Given the description of an element on the screen output the (x, y) to click on. 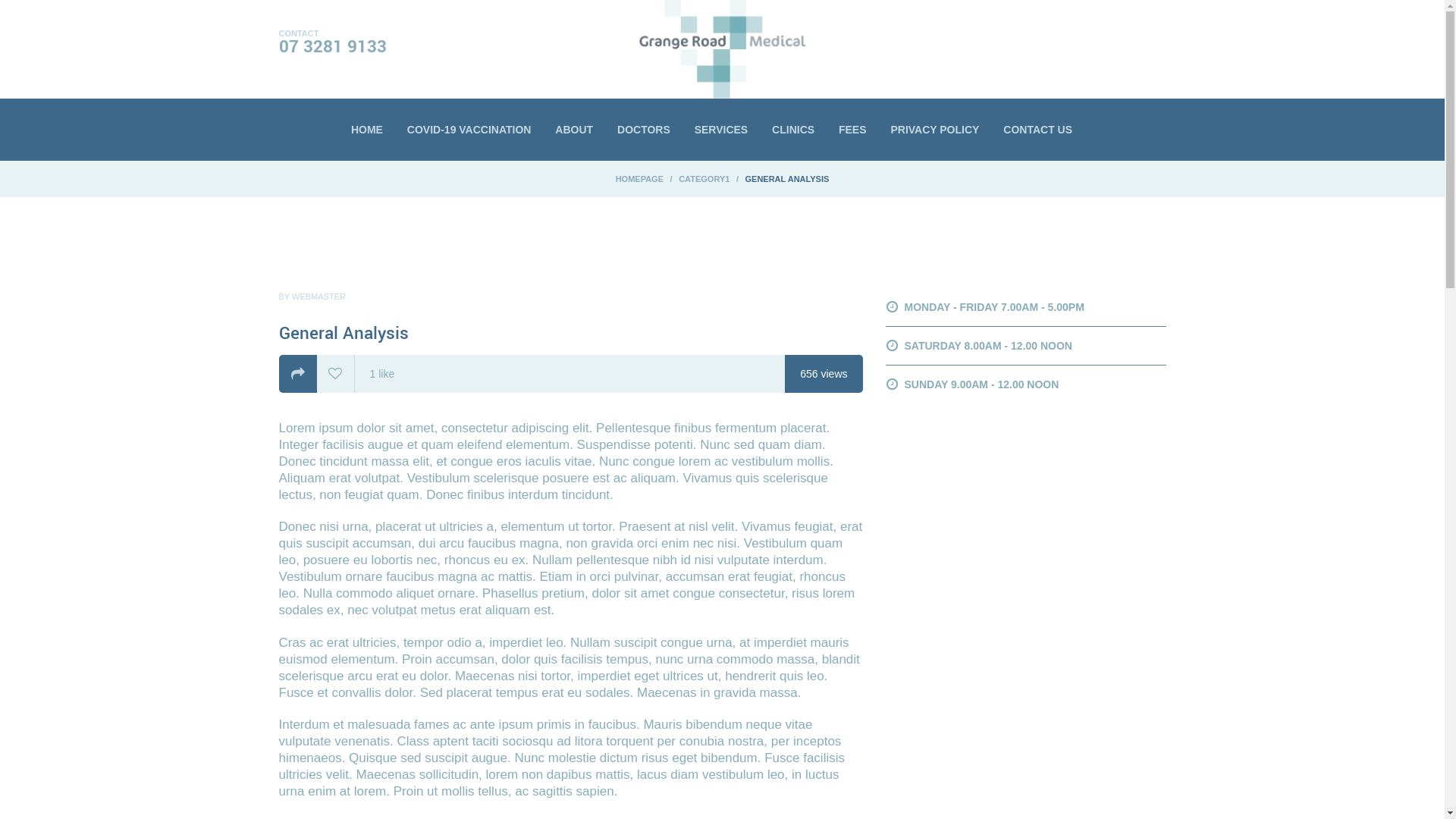
HOME Element type: text (366, 129)
like me Element type: hover (335, 374)
HOMEPAGE Element type: text (639, 178)
CLINICS Element type: text (792, 129)
PRIVACY POLICY Element type: text (934, 129)
FEES Element type: text (852, 129)
SERVICES Element type: text (721, 129)
WEBMASTER Element type: text (318, 296)
DOCTORS Element type: text (643, 129)
CONTACT US Element type: text (1037, 129)
ABOUT Element type: text (574, 129)
CATEGORY1 Element type: text (703, 178)
COVID-19 VACCINATION Element type: text (469, 129)
